Given the description of an element on the screen output the (x, y) to click on. 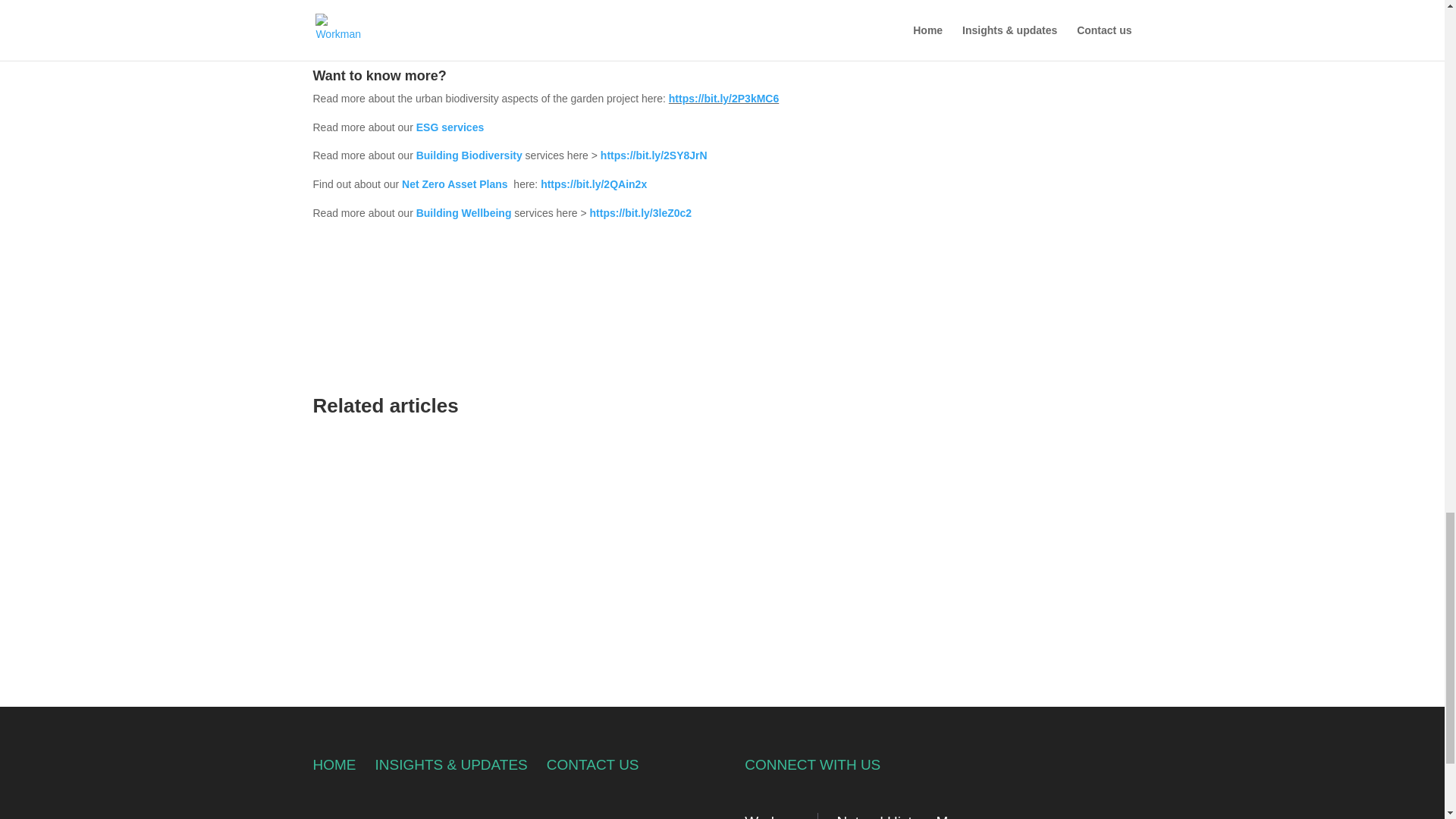
Building Wellbeing (464, 213)
Building Biodiversity (469, 155)
Net Zero Asset Plans (456, 184)
ESG services (450, 127)
